Given the description of an element on the screen output the (x, y) to click on. 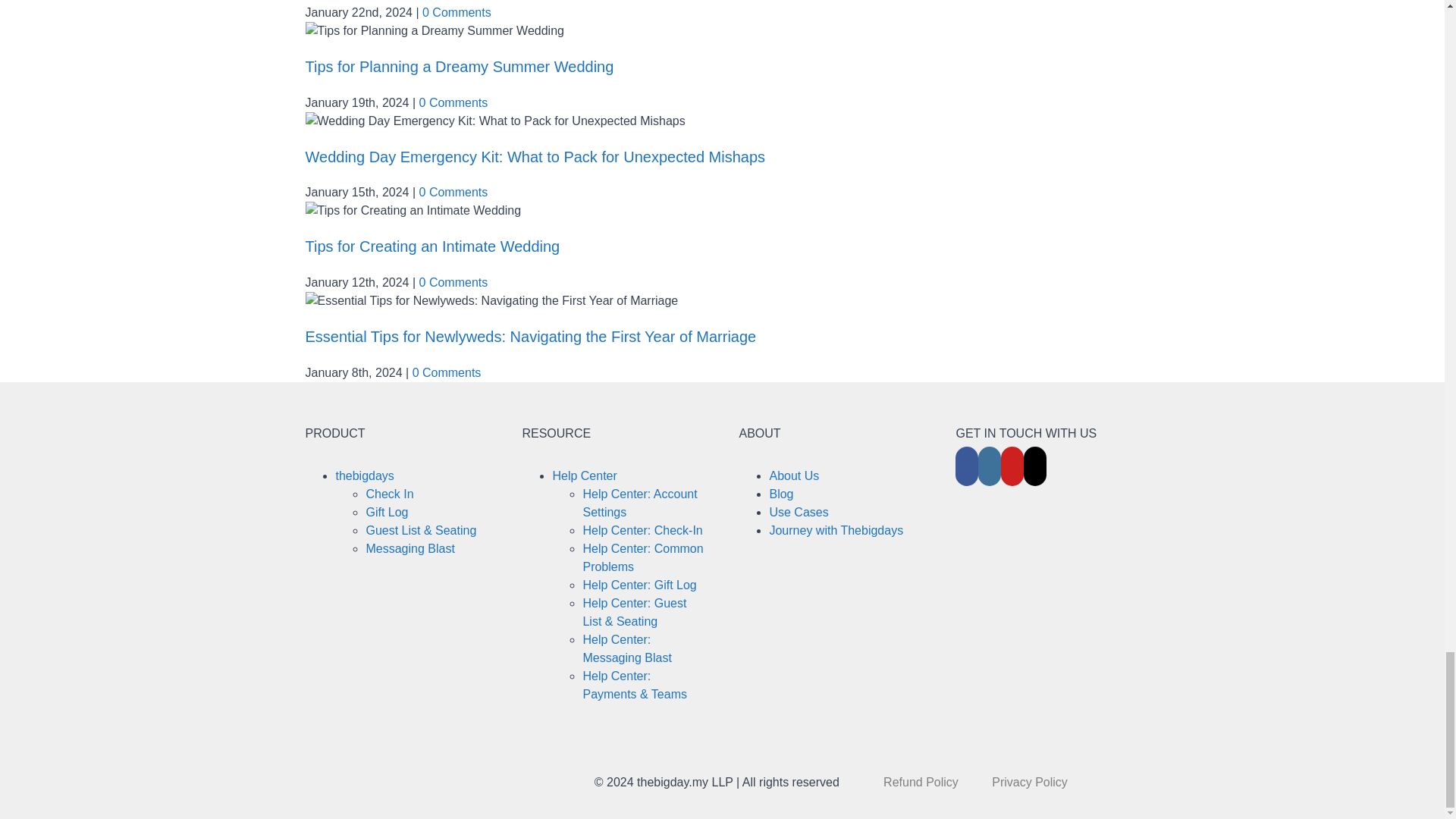
Tips for Planning a Dreamy Summer Wedding (458, 66)
Tips for Creating an Intimate Wedding (431, 246)
